Given the description of an element on the screen output the (x, y) to click on. 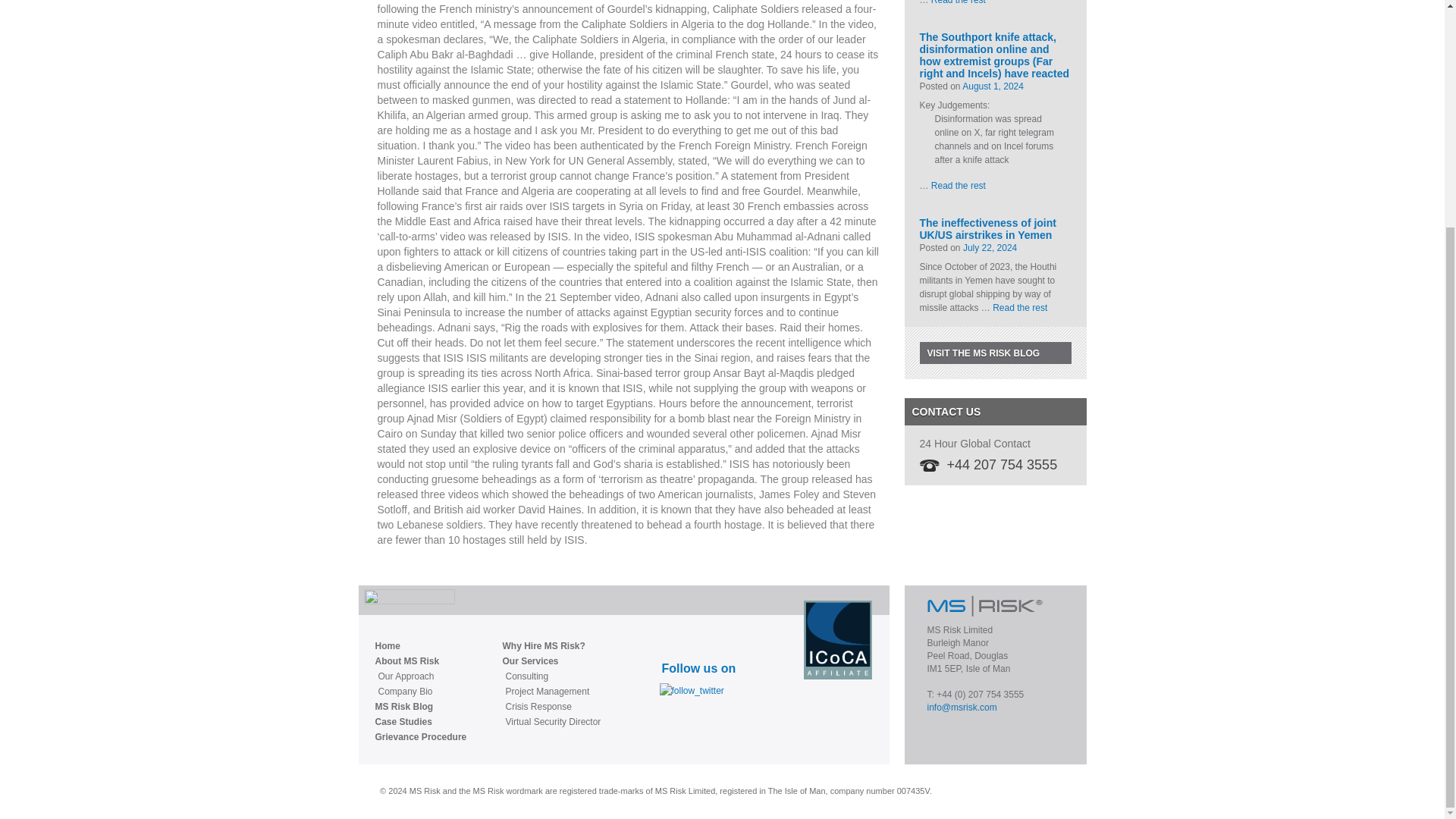
Case Studies (419, 721)
Company Bio (421, 691)
Consulting (552, 676)
About MS Risk (419, 661)
Our Services (550, 661)
Our Approach (421, 676)
Crisis Response (552, 706)
Grievance Procedure (419, 736)
Home (419, 645)
10:40 pm (992, 86)
